Given the description of an element on the screen output the (x, y) to click on. 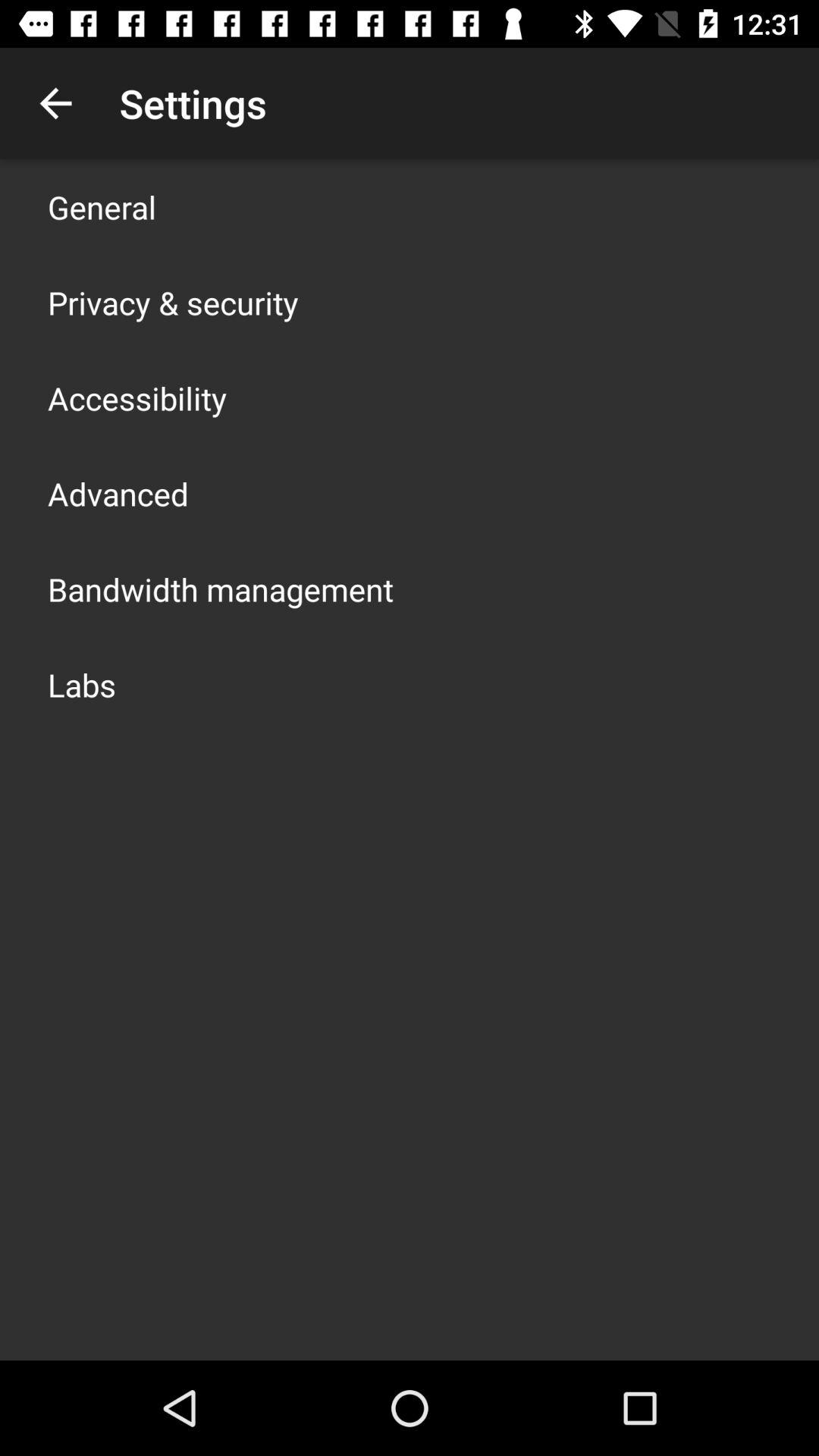
tap app to the left of settings (55, 103)
